Given the description of an element on the screen output the (x, y) to click on. 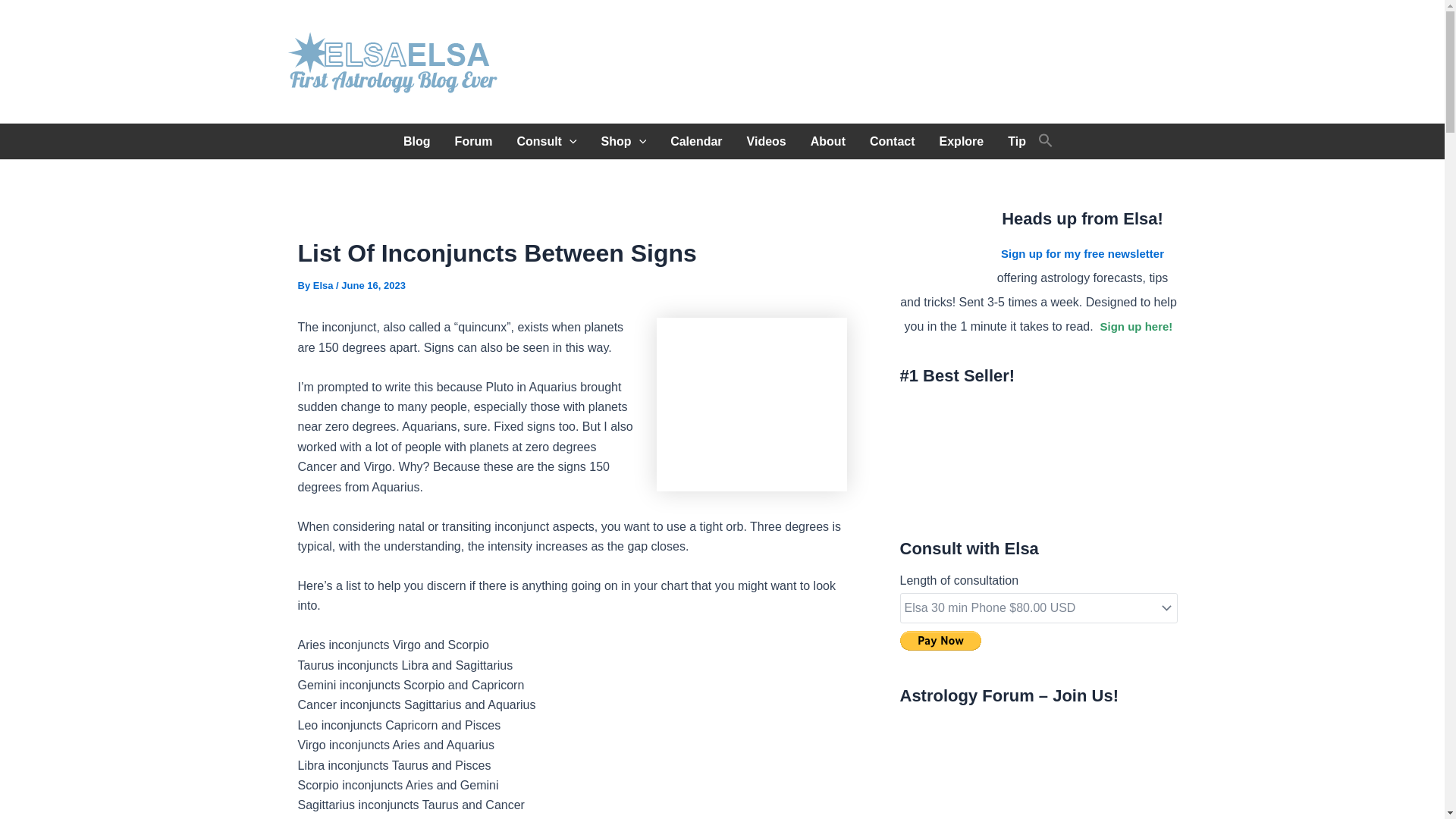
About (827, 140)
View all posts by Elsa (324, 285)
Tip (1016, 140)
Contact (892, 140)
Videos (766, 140)
Blog (416, 140)
Elsa (324, 285)
Shop (624, 140)
Calendar (695, 140)
Consult (545, 140)
